Given the description of an element on the screen output the (x, y) to click on. 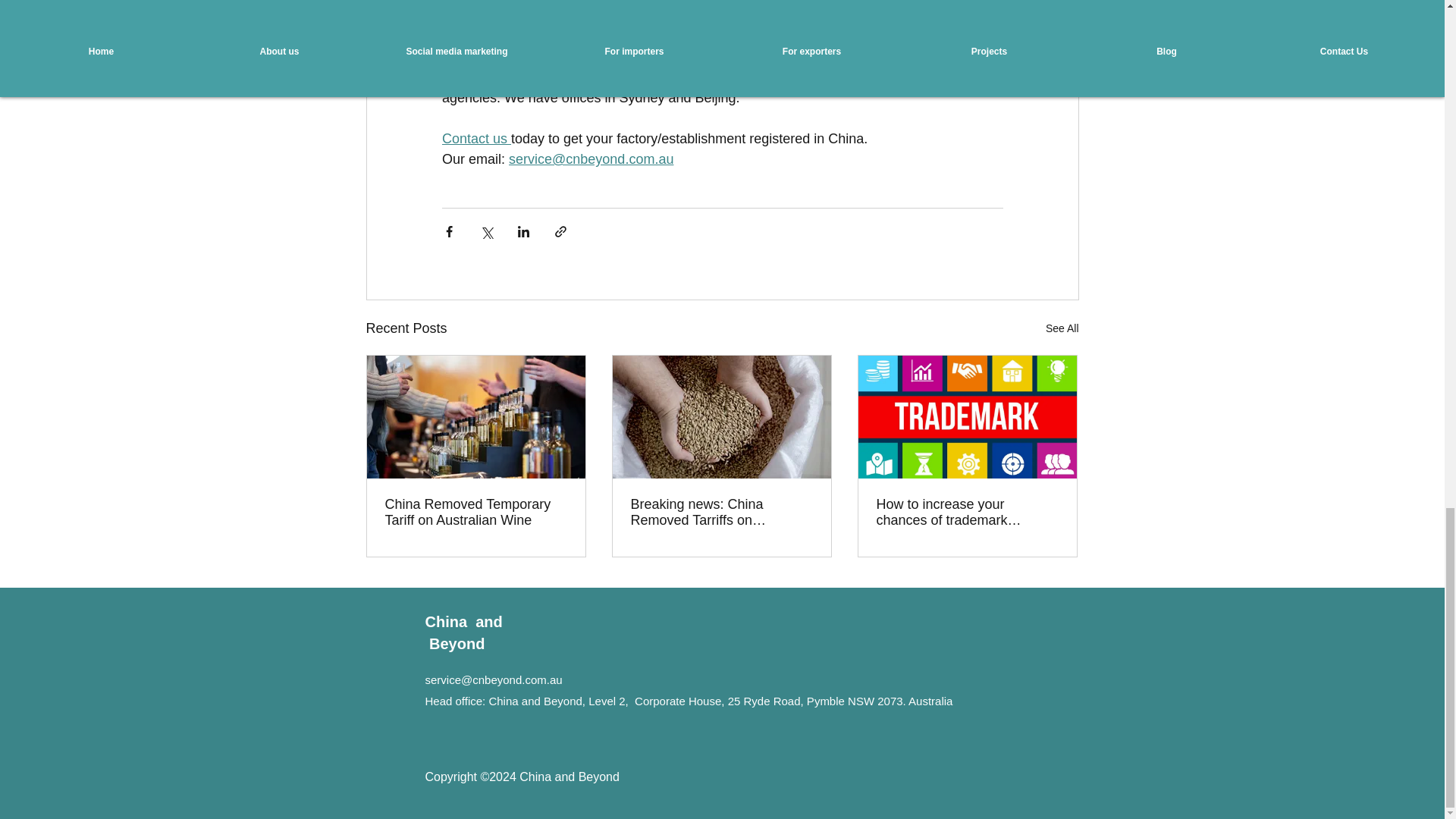
Breaking news: China Removed Tarriffs on Australian Barley (721, 512)
China Removed Temporary Tariff on Australian Wine (476, 512)
How to increase your chances of trademark approval in China (967, 512)
China  and  Beyond (463, 632)
See All (1061, 328)
Contact us  (476, 138)
